Given the description of an element on the screen output the (x, y) to click on. 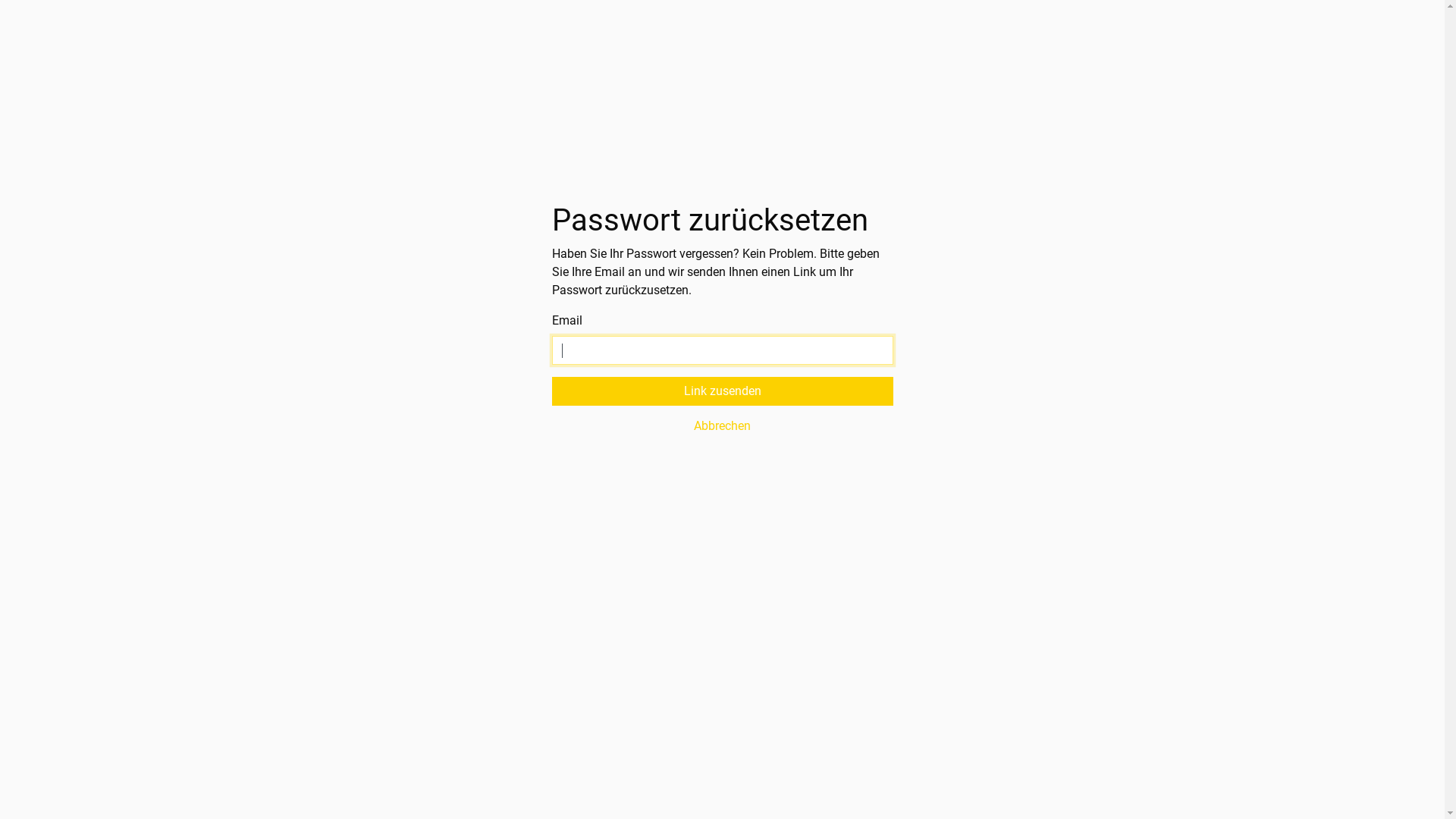
Abbrechen Element type: text (722, 425)
Link zusenden Element type: text (722, 390)
